Given the description of an element on the screen output the (x, y) to click on. 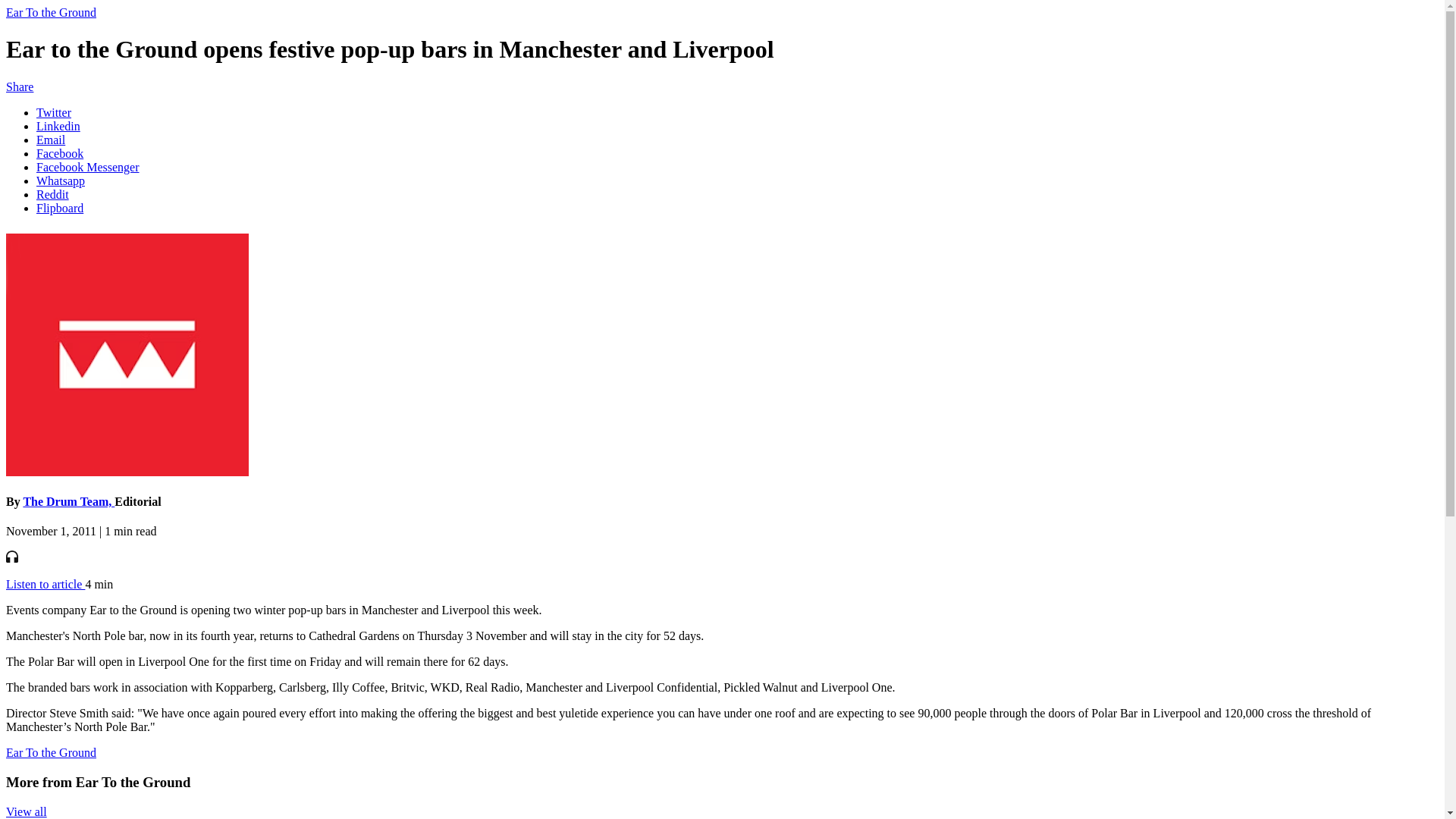
View all (25, 811)
Reddit (52, 194)
Ear To the Ground (50, 752)
Linkedin (58, 125)
Flipboard (59, 207)
Ear To the Ground (50, 11)
Facebook (59, 153)
Listen to article (44, 584)
Twitter (53, 112)
